Given the description of an element on the screen output the (x, y) to click on. 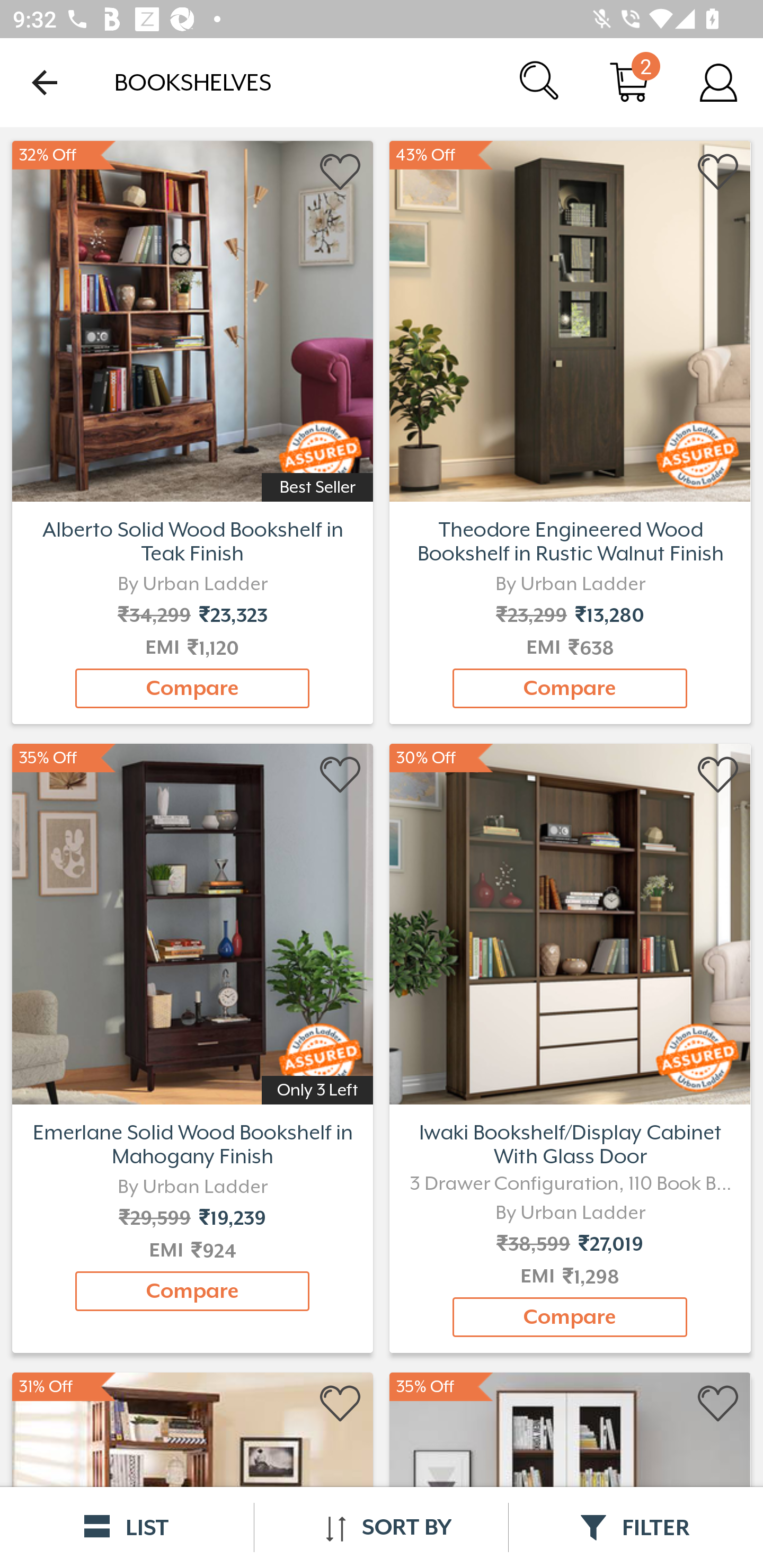
Navigate up (44, 82)
Search (540, 81)
Cart (629, 81)
Account Details (718, 81)
223+ options TV Units Starting from  ₹482 (191, 318)
291+ options Bookshelves Starting from  ₹608 (570, 318)
 (341, 172)
 (718, 172)
Compare (192, 687)
Compare (569, 687)
 (341, 775)
 (718, 775)
Compare (192, 1290)
Compare (569, 1316)
 (341, 1404)
 (718, 1404)
 LIST (127, 1527)
SORT BY (381, 1527)
 FILTER (635, 1527)
